Given the description of an element on the screen output the (x, y) to click on. 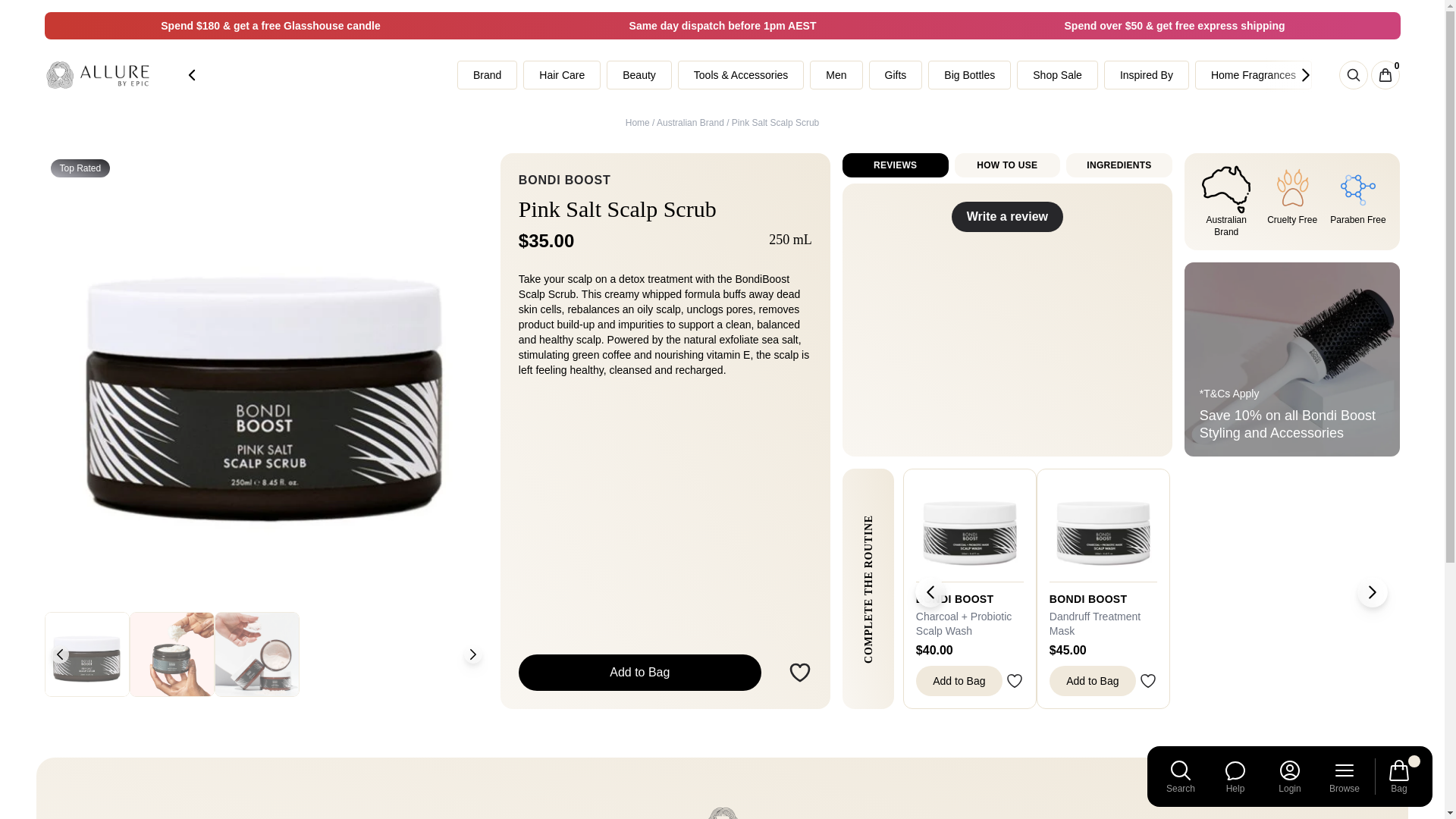
Write a review (1007, 216)
Brand (486, 74)
Inspired By (1146, 74)
Home Fragrances (1253, 74)
Men (836, 74)
Beauty (639, 74)
Previous Page (191, 74)
Gifts (896, 74)
Open your cart (1385, 74)
Write a review (1007, 319)
Search Allure by Epic (1353, 74)
Shop Sale (1058, 74)
Big Bottles (969, 74)
Hair Care (562, 74)
Allure by Epic (97, 75)
